Given the description of an element on the screen output the (x, y) to click on. 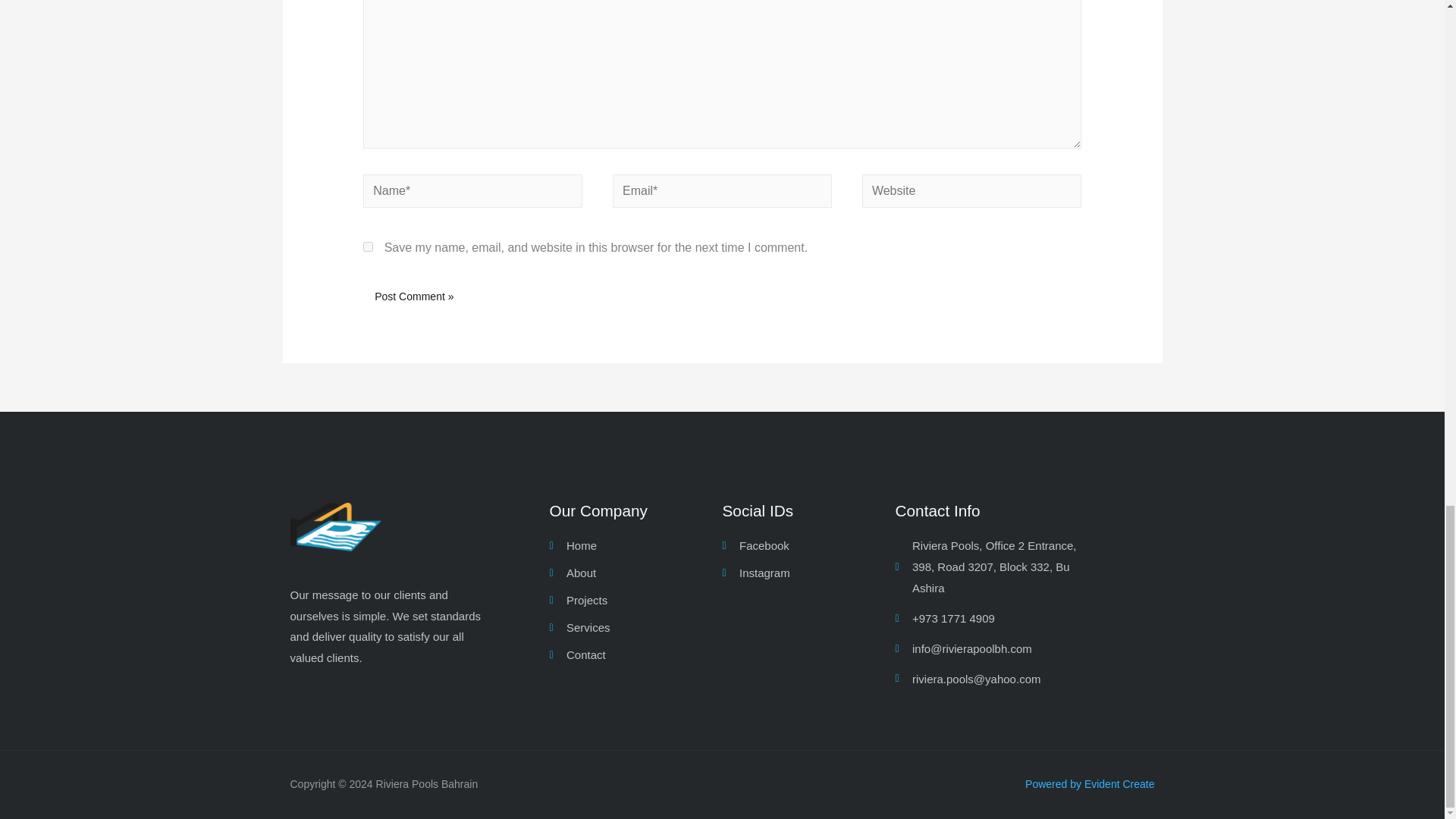
Contact (635, 654)
Home (635, 545)
Facebook (808, 545)
Services (635, 627)
Powered by Evident Create (1089, 784)
yes (367, 246)
About (635, 572)
Projects (635, 599)
